Given the description of an element on the screen output the (x, y) to click on. 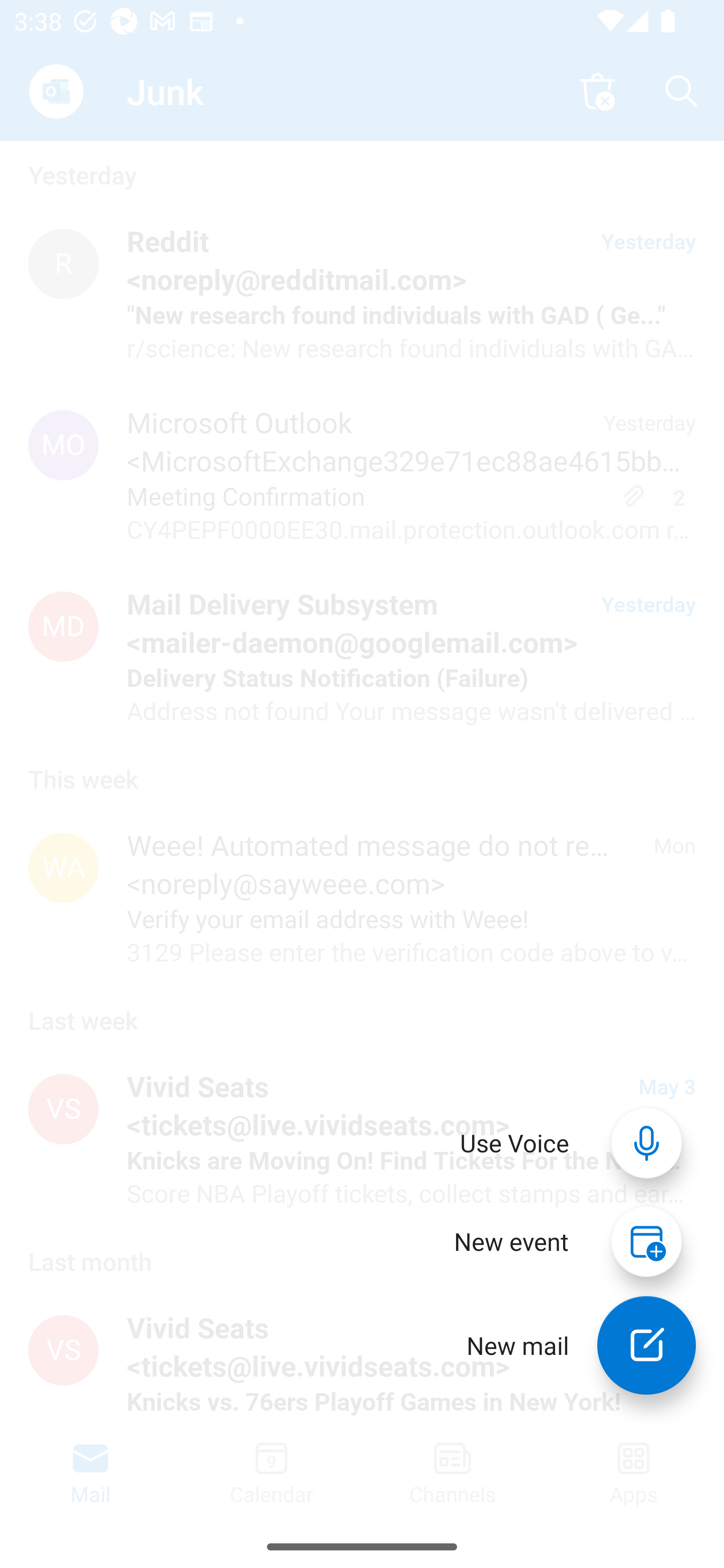
Use Voice (514, 1142)
New event (511, 1241)
New mail New mail New mail (566, 1344)
New mail (646, 1344)
